Given the description of an element on the screen output the (x, y) to click on. 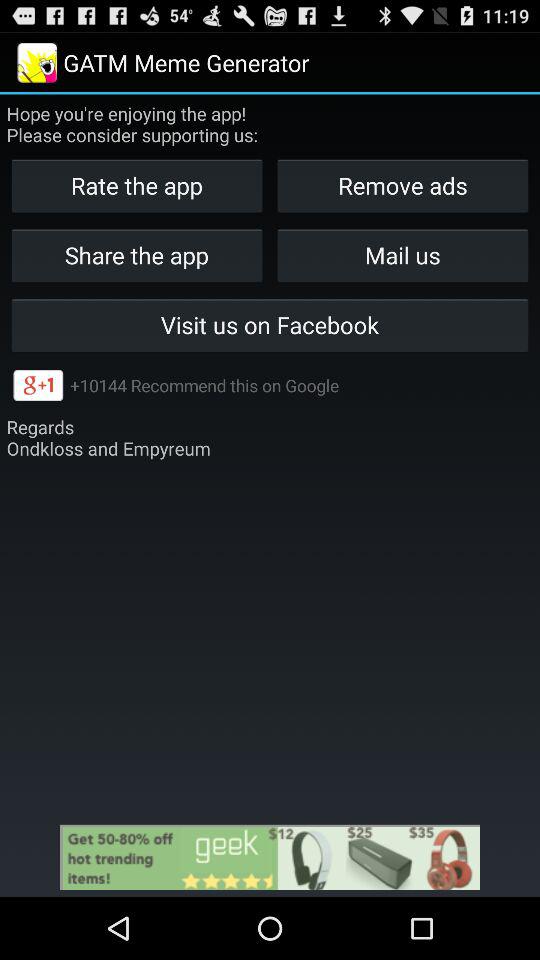
select the icon below the hope you re icon (402, 185)
